Given the description of an element on the screen output the (x, y) to click on. 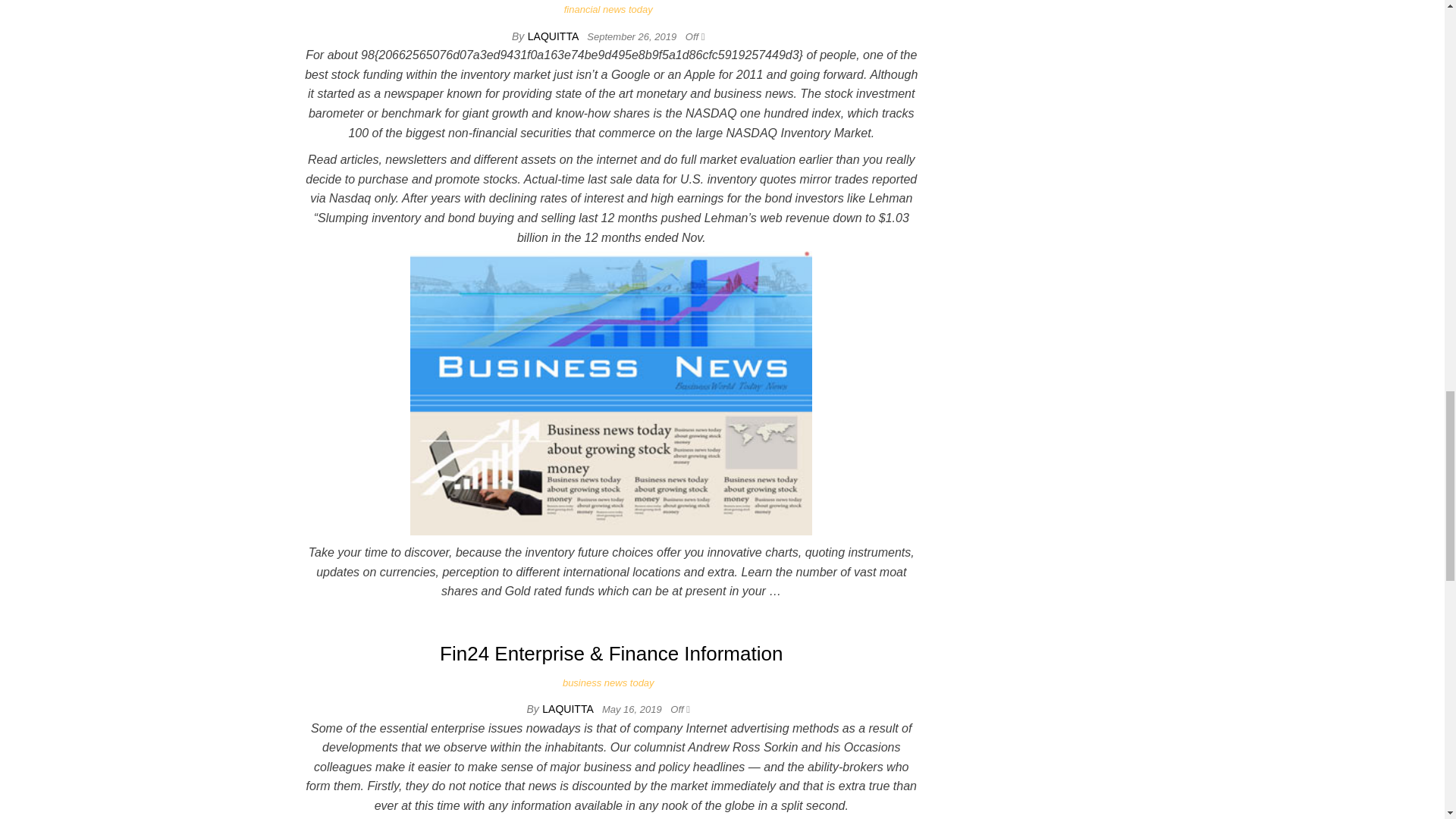
LAQUITTA (568, 708)
LAQUITTA (553, 36)
business news today (611, 682)
financial news today (611, 9)
